Given the description of an element on the screen output the (x, y) to click on. 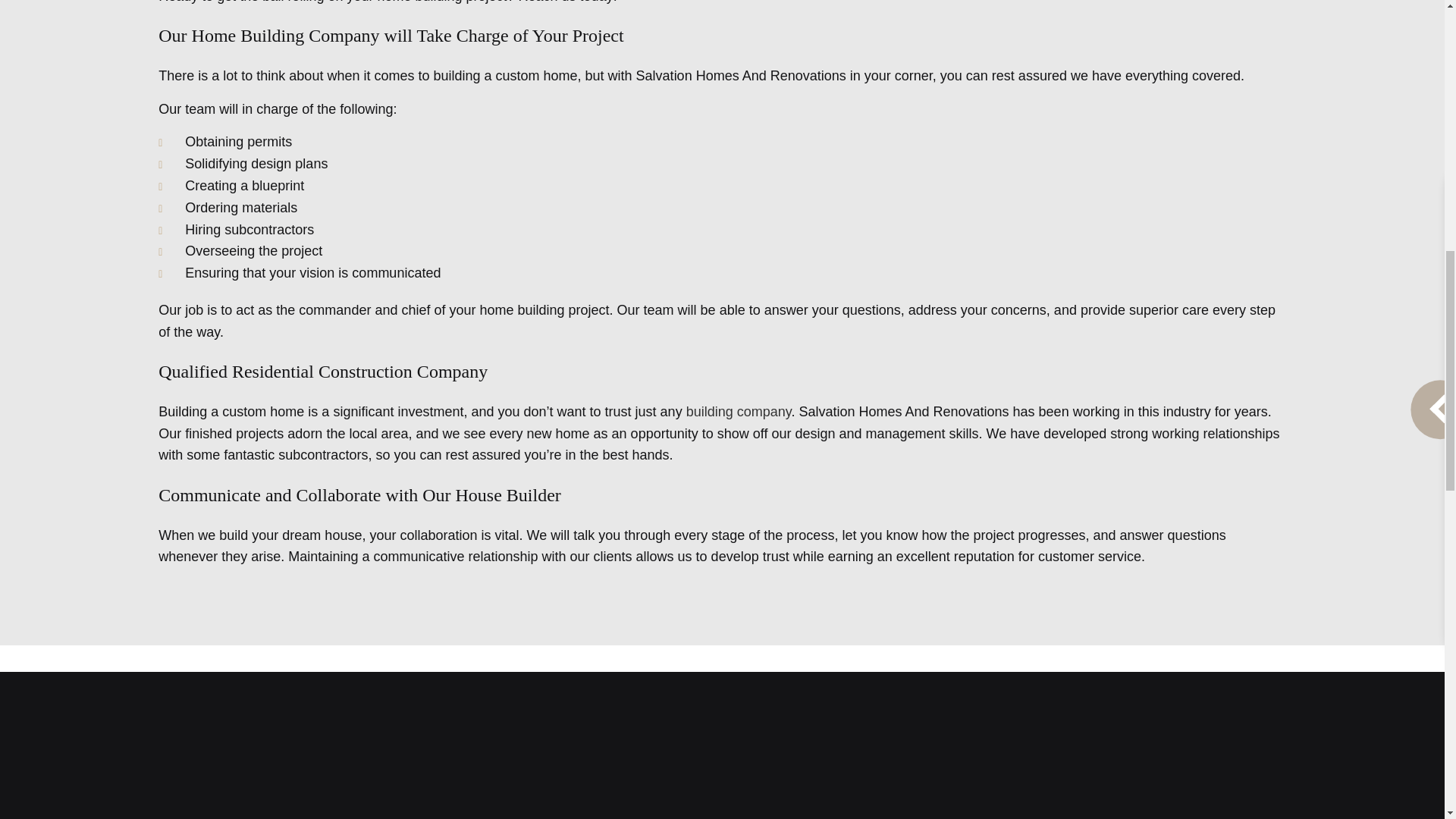
Learn more about us (738, 411)
building company (738, 411)
